Given the description of an element on the screen output the (x, y) to click on. 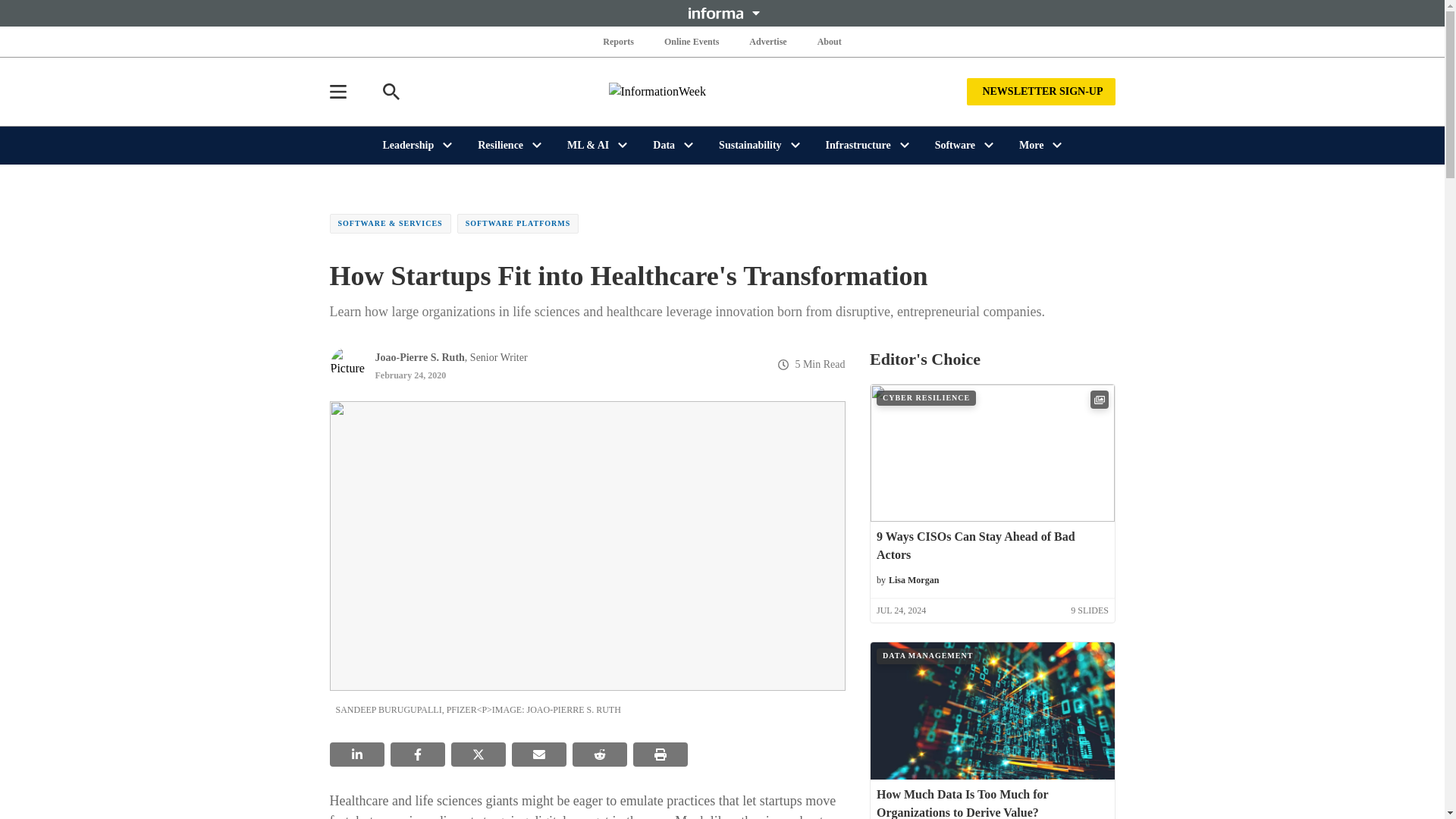
Advertise (767, 41)
About (828, 41)
NEWSLETTER SIGN-UP (1040, 90)
InformationWeek (721, 91)
Reports (618, 41)
Online Events (691, 41)
